Given the description of an element on the screen output the (x, y) to click on. 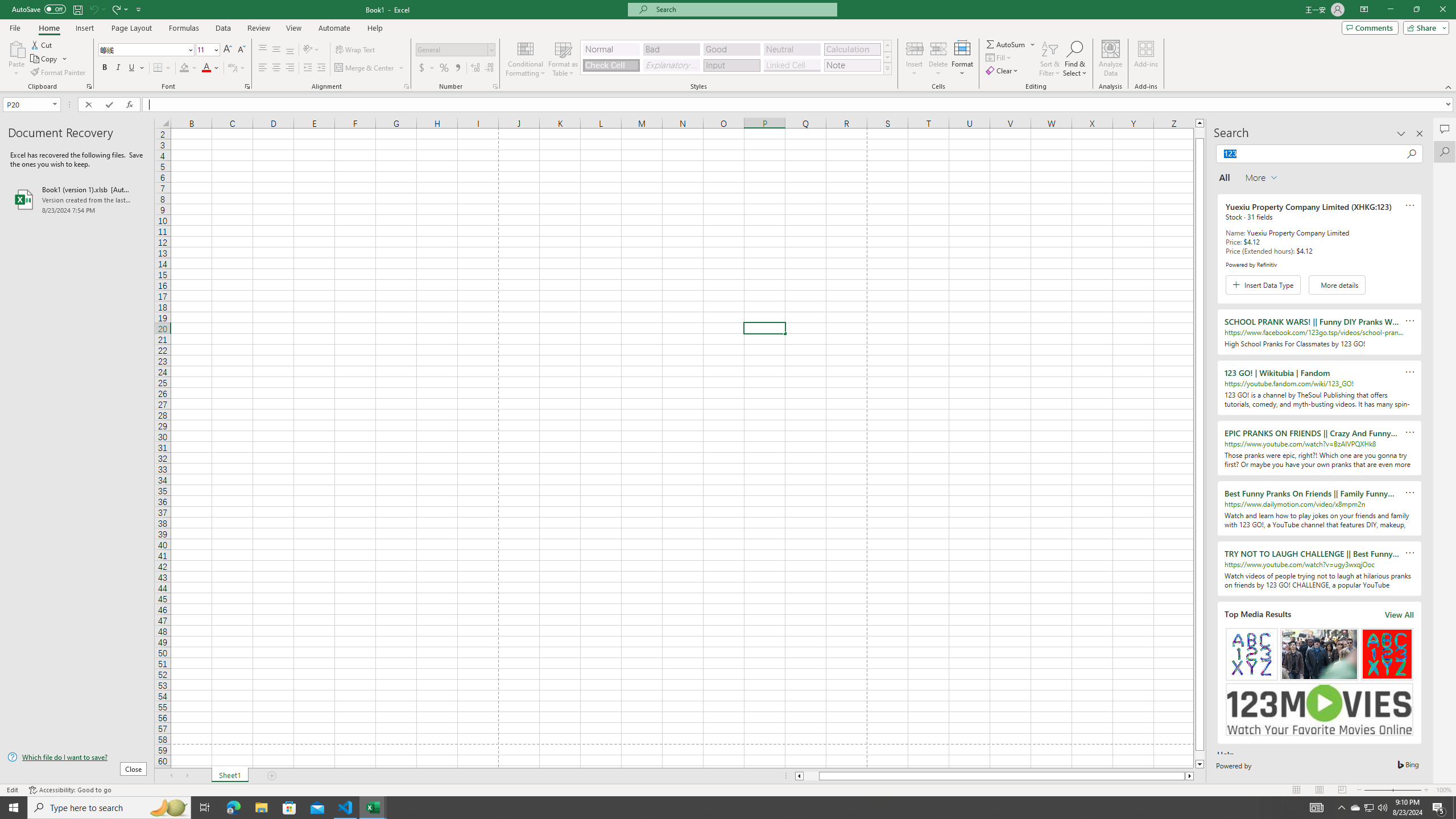
Fill Color (188, 67)
Format as Table (563, 58)
Increase Indent (320, 67)
Decrease Font Size (240, 49)
Check Cell (611, 65)
Font Size (207, 49)
Page up (1199, 132)
Bottom Align (290, 49)
Decrease Decimal (489, 67)
Bottom Border (157, 67)
Neutral (791, 49)
